Given the description of an element on the screen output the (x, y) to click on. 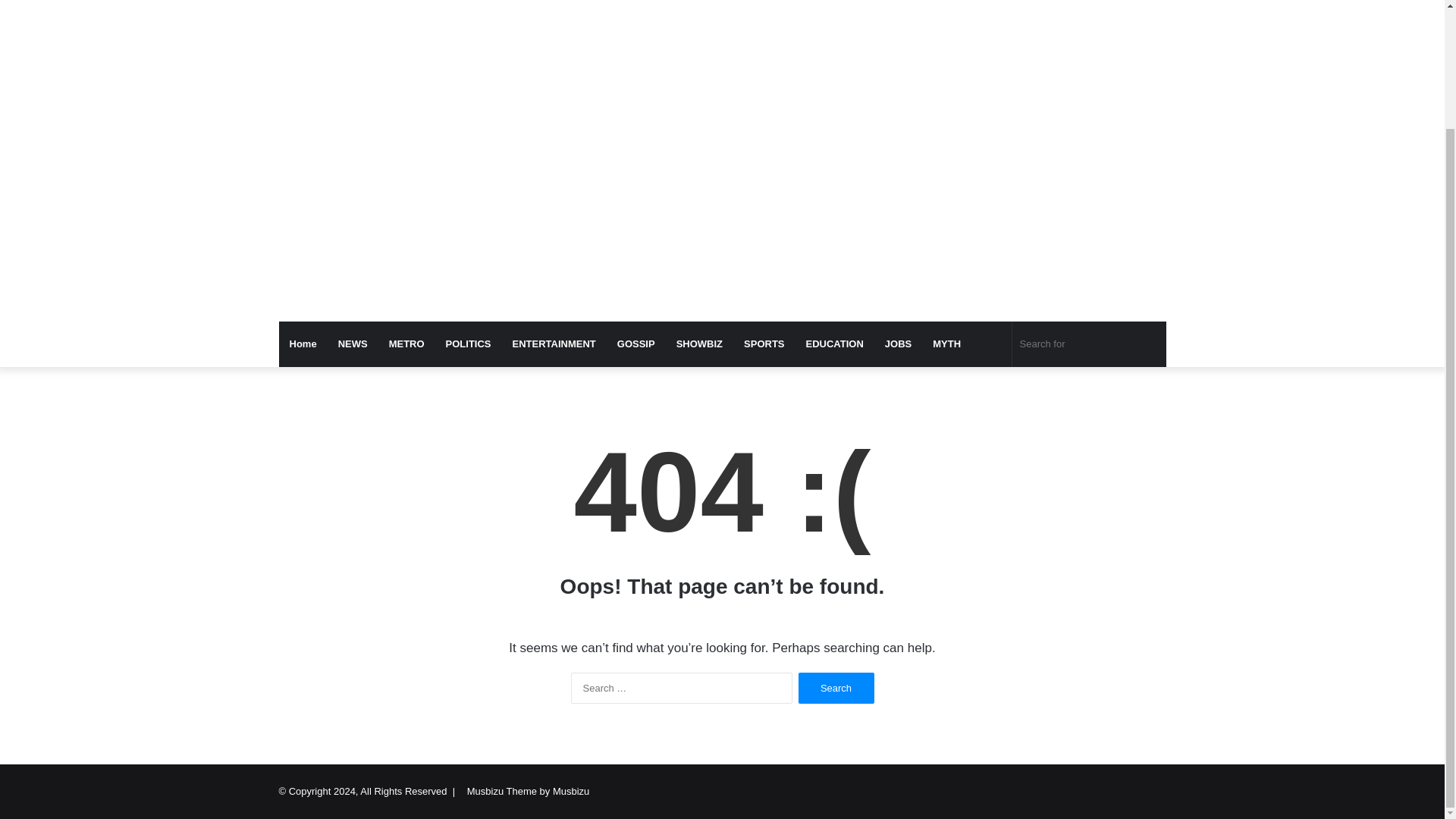
Musbizu (419, 4)
JOBS (898, 343)
SPORTS (763, 343)
SHOWBIZ (699, 343)
Home (303, 343)
Search for (1088, 343)
NEWS (352, 343)
EDUCATION (834, 343)
GOSSIP (636, 343)
MYTH (946, 343)
Search (835, 687)
Musbizu Theme by Musbizu (528, 790)
METRO (406, 343)
POLITICS (468, 343)
